Given the description of an element on the screen output the (x, y) to click on. 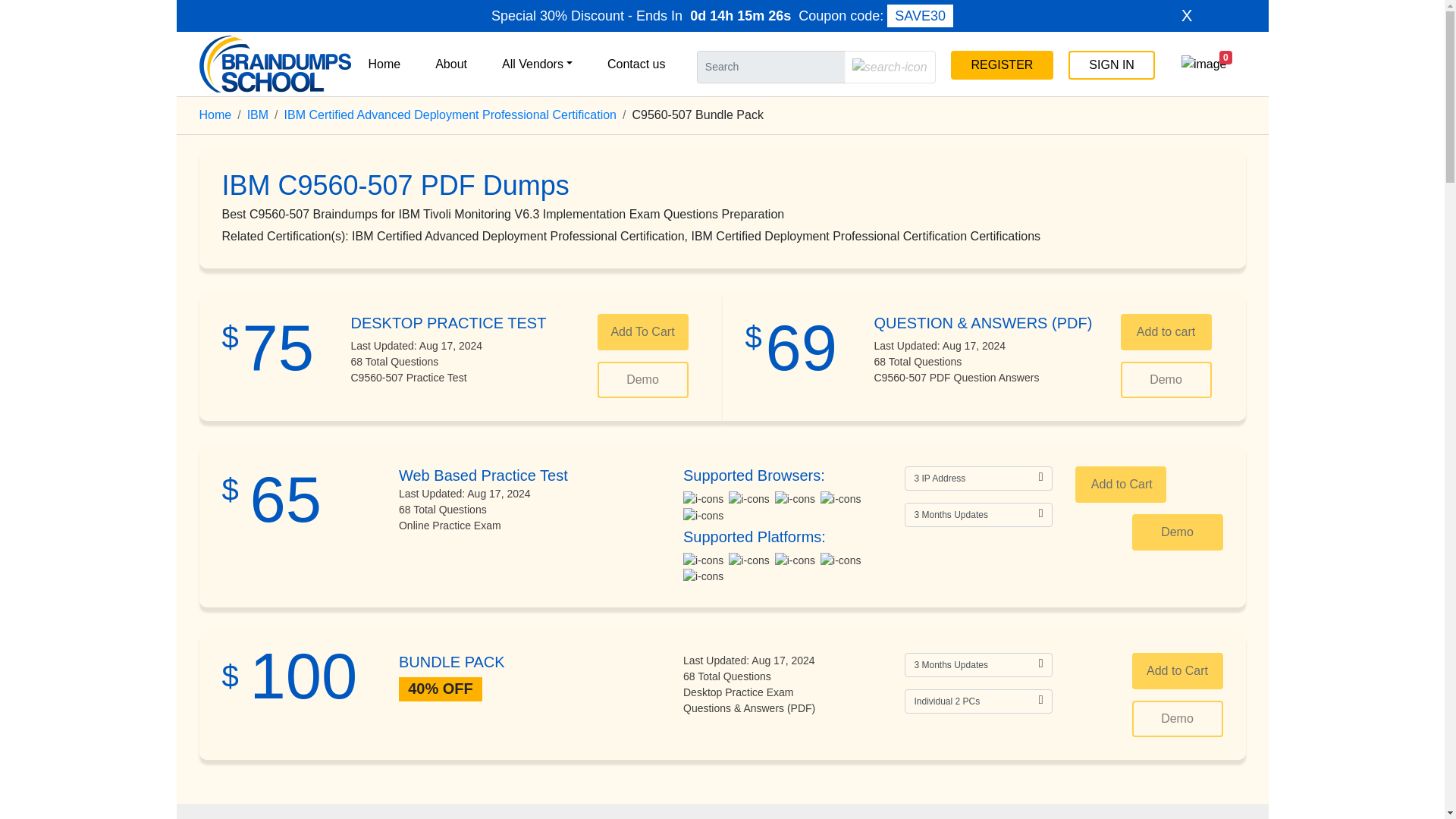
REGISTER (1002, 64)
IBM (257, 114)
Home (384, 63)
Demo (642, 379)
Home (214, 114)
IBM Certified Advanced Deployment Professional Certification (449, 114)
Add To Cart (642, 331)
All Vendors (537, 63)
Contact us (636, 63)
About (451, 63)
